Given the description of an element on the screen output the (x, y) to click on. 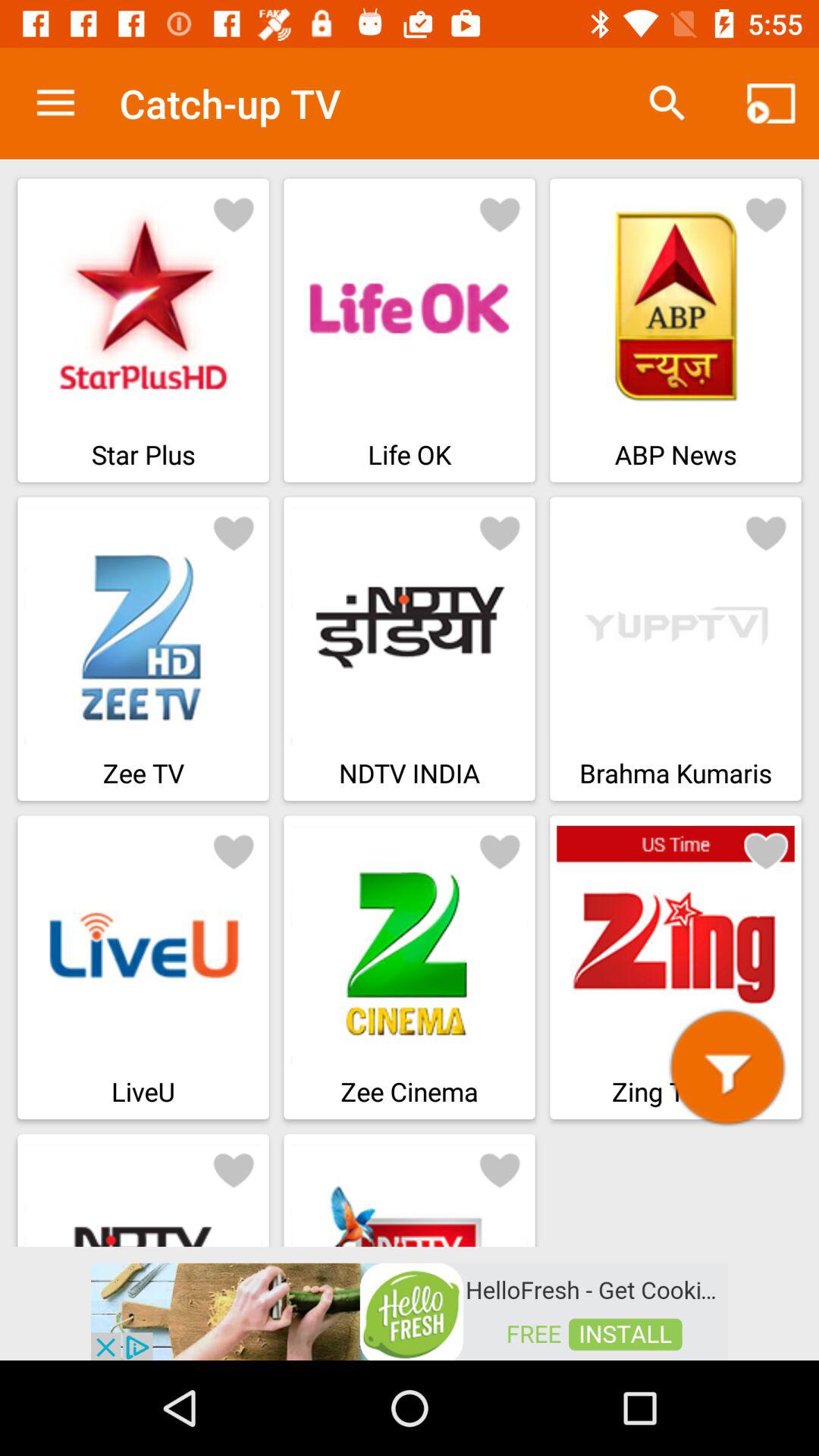
mark this tv as favourite (766, 532)
